Given the description of an element on the screen output the (x, y) to click on. 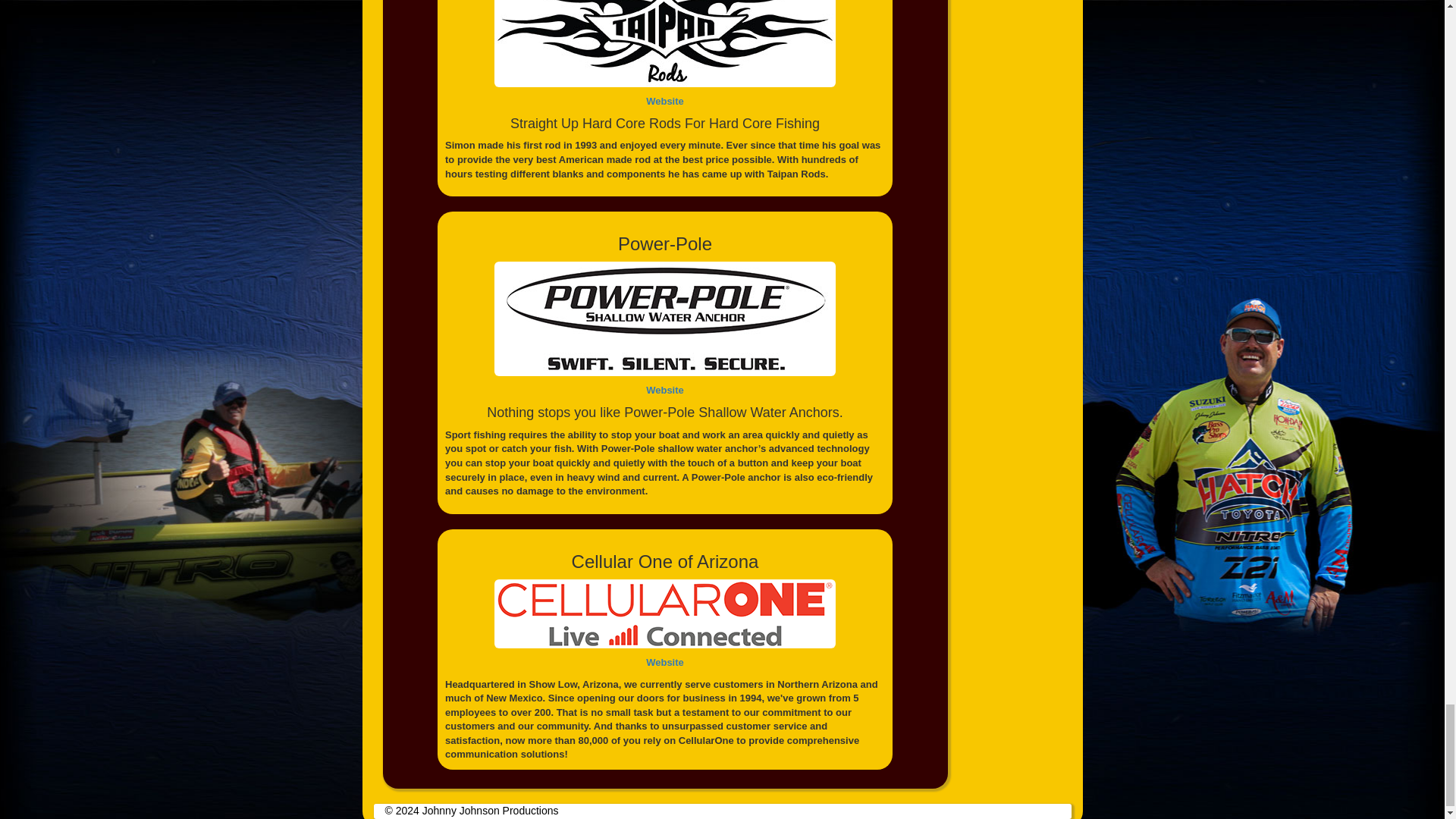
Website (665, 389)
Website (665, 662)
Website (665, 101)
